Given the description of an element on the screen output the (x, y) to click on. 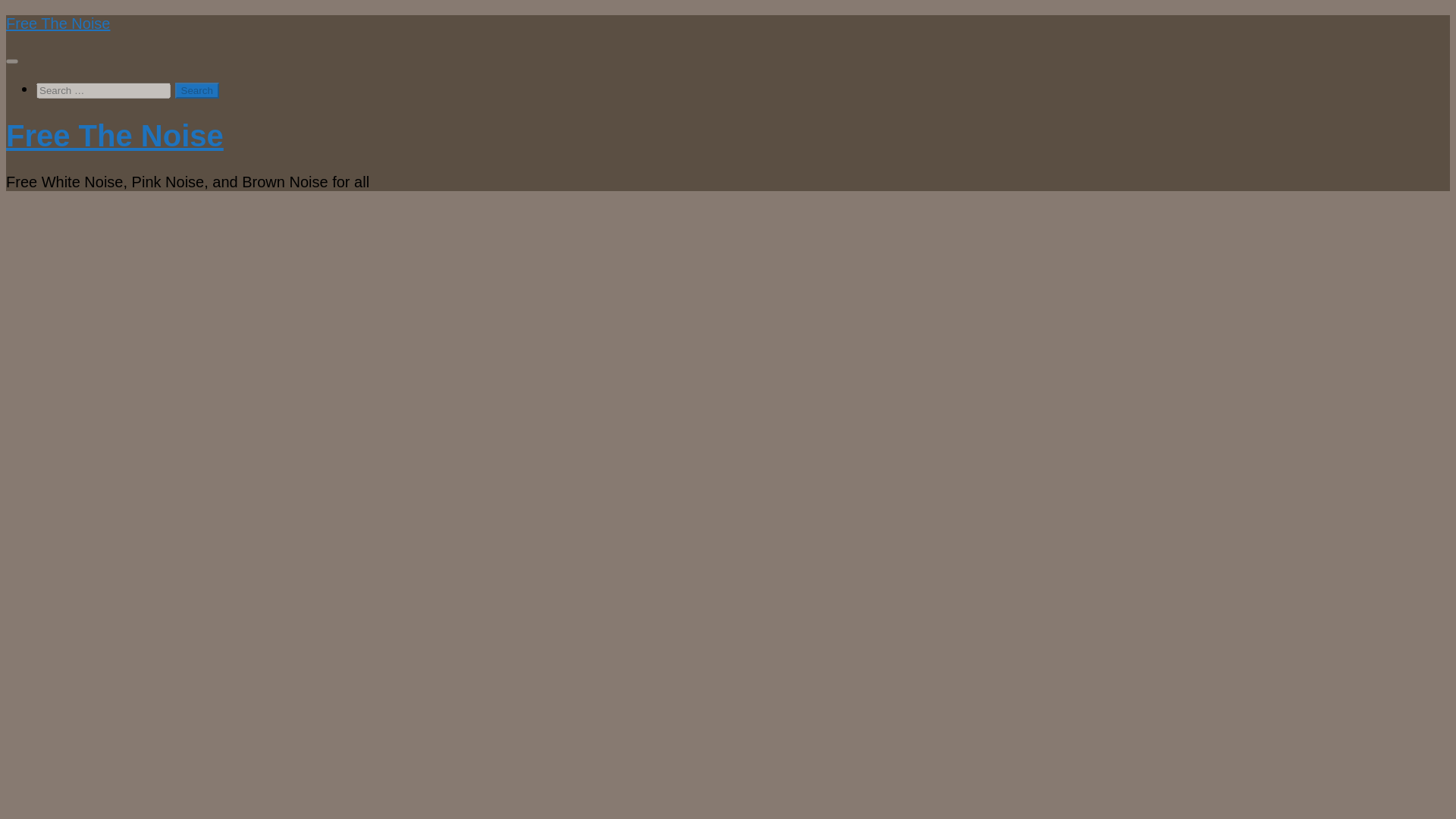
Menu (11, 60)
Search (196, 90)
Search (196, 90)
Free The Noise (57, 23)
Free The Noise (114, 135)
Search (196, 90)
